Given the description of an element on the screen output the (x, y) to click on. 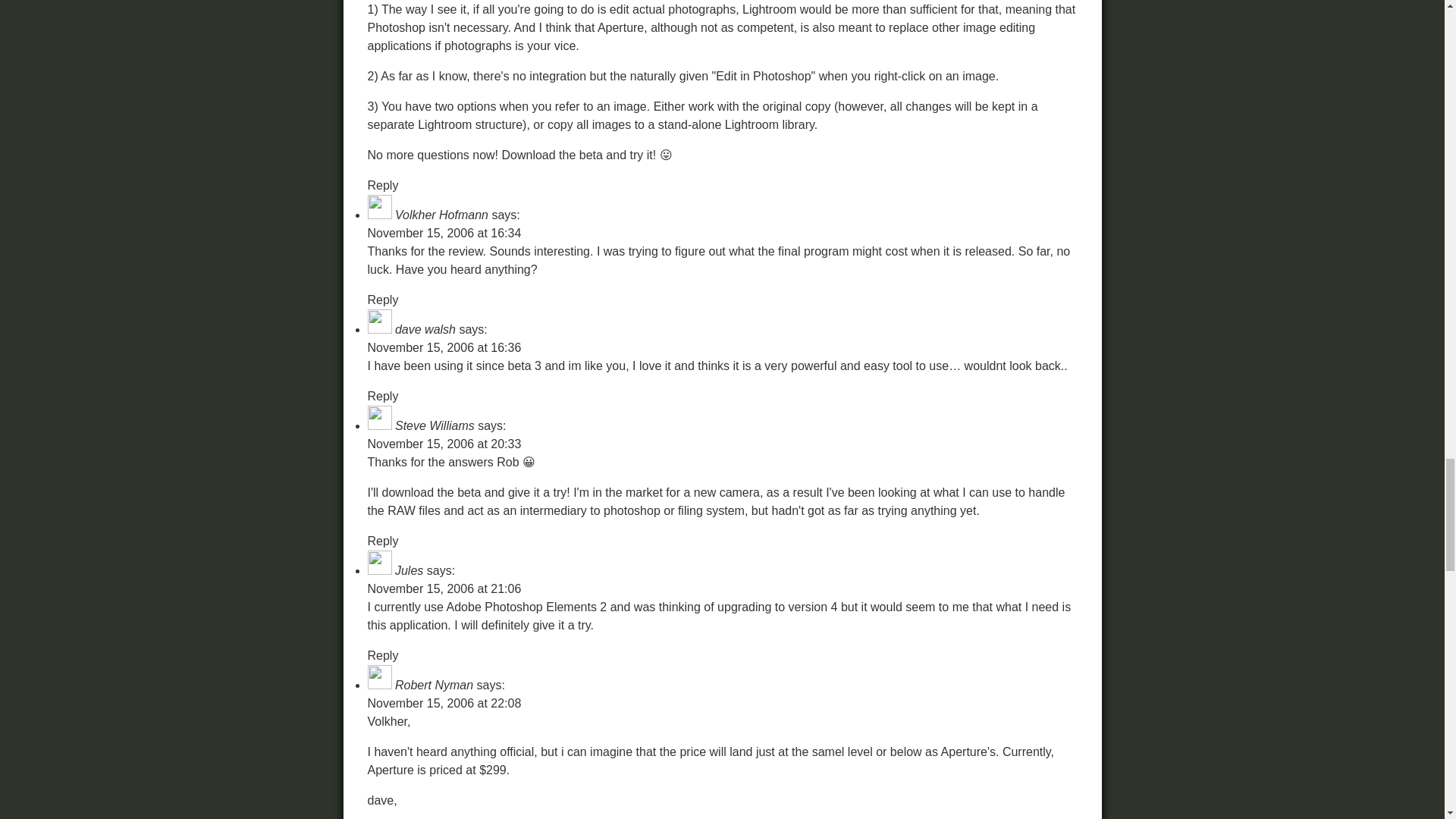
Robert Nyman (433, 684)
Reply (381, 395)
November 15, 2006 at 16:36 (443, 347)
Volkher Hofmann (440, 214)
Reply (381, 540)
Reply (381, 655)
Reply (381, 299)
November 15, 2006 at 20:33 (443, 443)
November 15, 2006 at 22:08 (443, 703)
November 15, 2006 at 16:34 (443, 232)
Reply (381, 185)
Steve Williams (434, 425)
Jules (408, 570)
November 15, 2006 at 21:06 (443, 588)
